Given the description of an element on the screen output the (x, y) to click on. 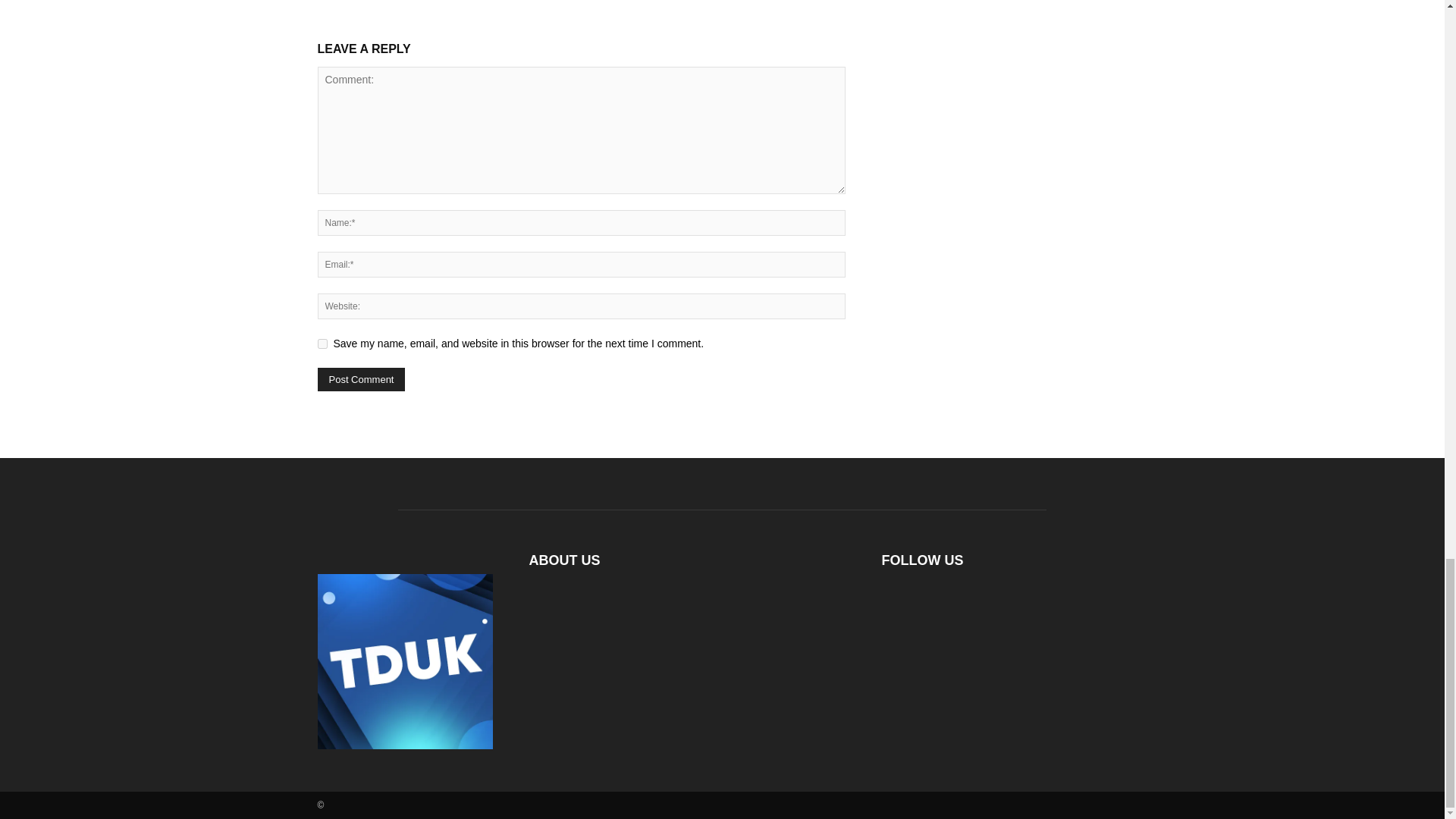
yes (321, 343)
Post Comment (360, 379)
